Given the description of an element on the screen output the (x, y) to click on. 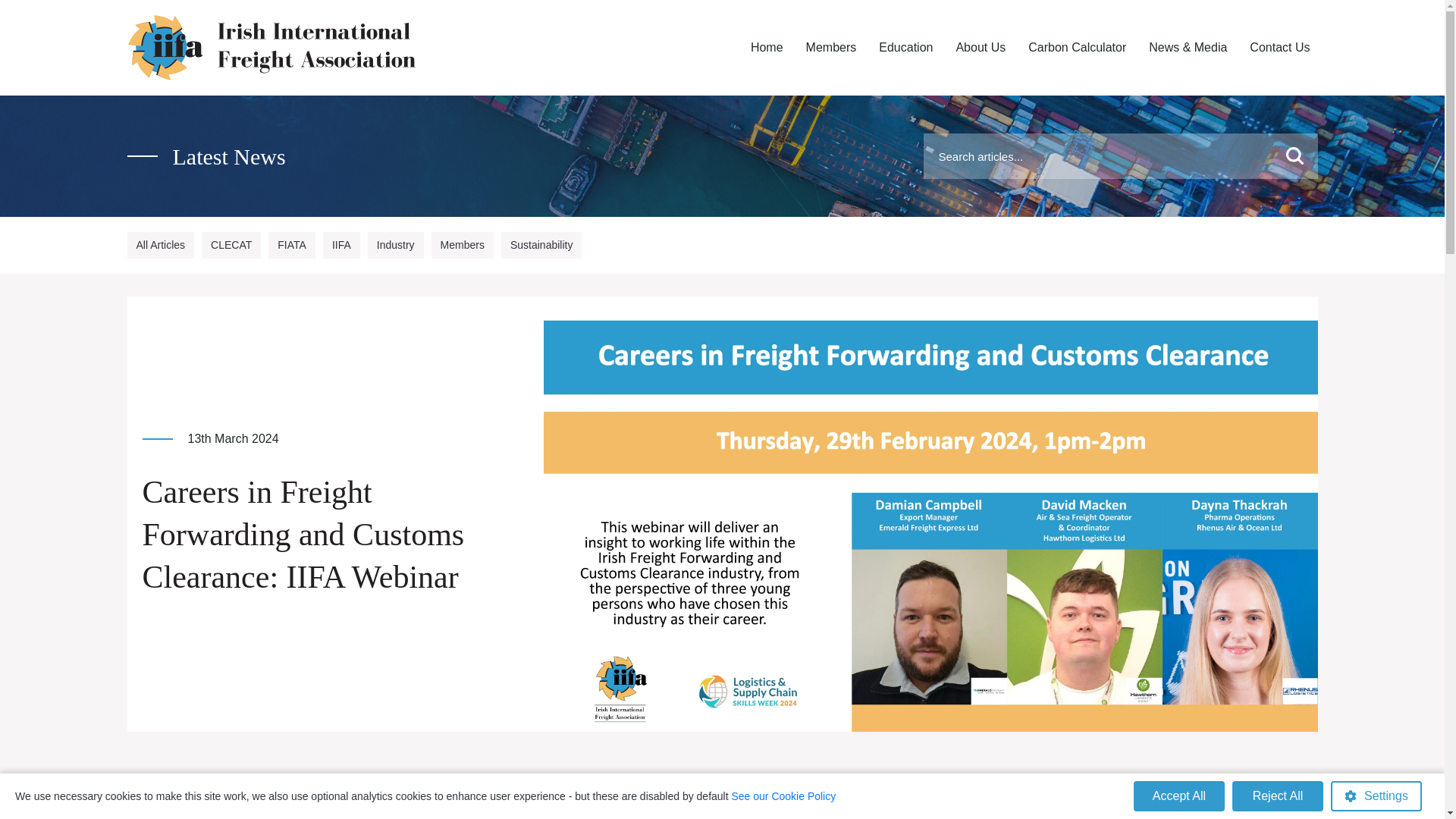
Members (830, 47)
Home (766, 47)
Contact Us (1279, 47)
About Us (980, 47)
Education (905, 47)
Carbon Calculator (1077, 47)
Home Page (766, 47)
Members (830, 47)
